Given the description of an element on the screen output the (x, y) to click on. 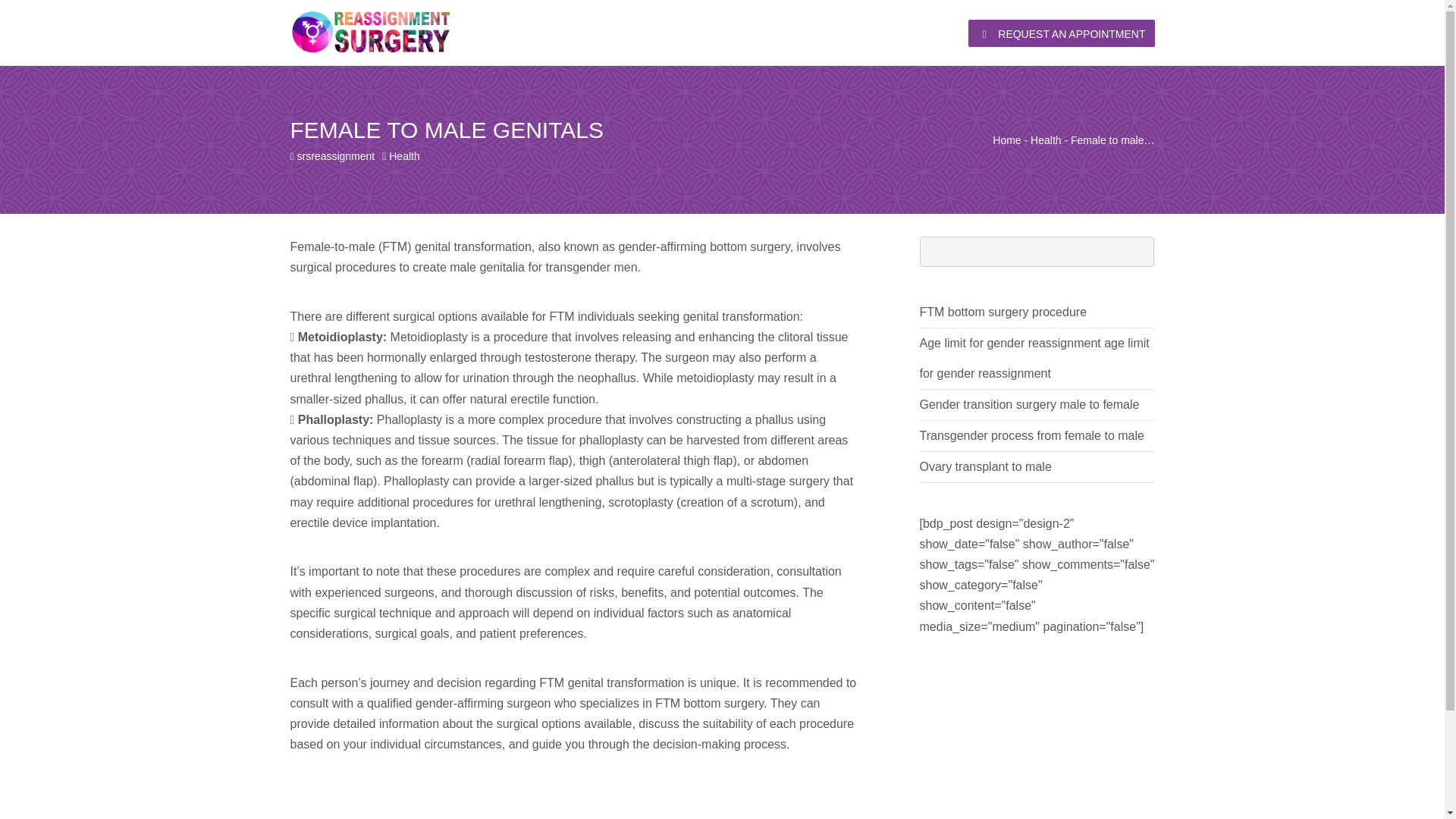
Health (403, 155)
Ovary transplant to male (984, 466)
Transgender process from female to male (1030, 435)
Gender transition surgery male to female (1028, 404)
Submit (486, 523)
REQUEST AN APPOINTMENT (1061, 32)
Home (1006, 140)
srsreassignment (336, 155)
FTM bottom surgery procedure (1002, 311)
